Given the description of an element on the screen output the (x, y) to click on. 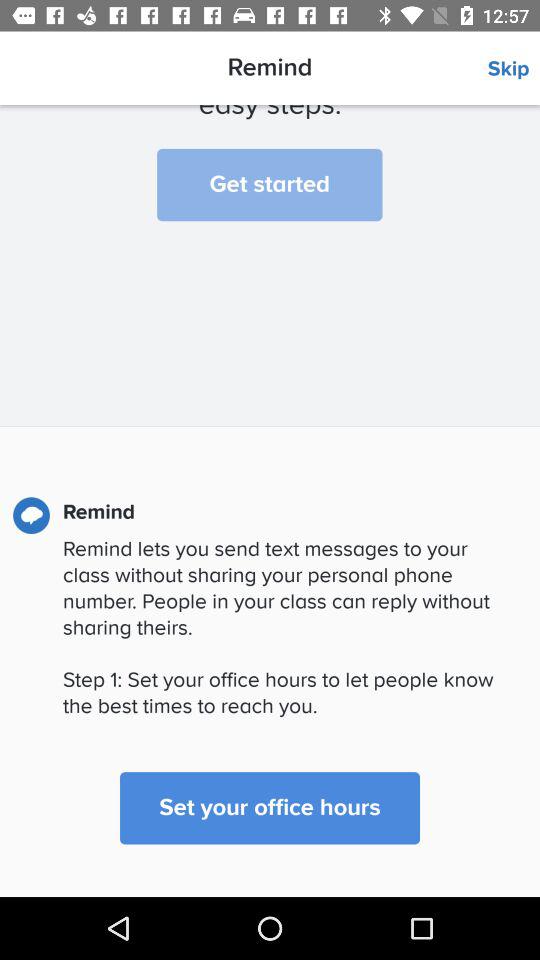
launch the icon above the we ll help (513, 69)
